Given the description of an element on the screen output the (x, y) to click on. 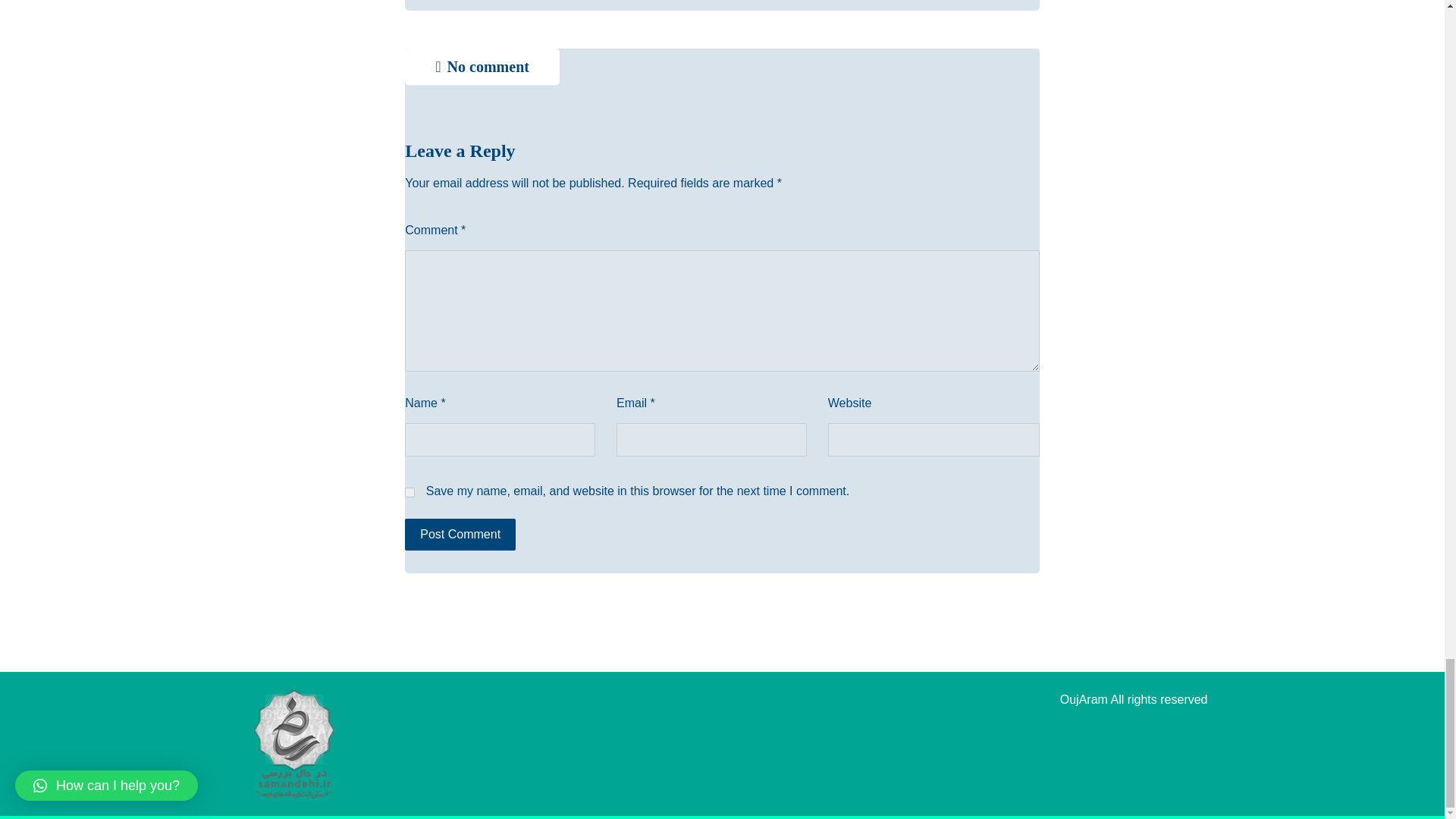
Post Comment (459, 534)
yes (409, 492)
